Given the description of an element on the screen output the (x, y) to click on. 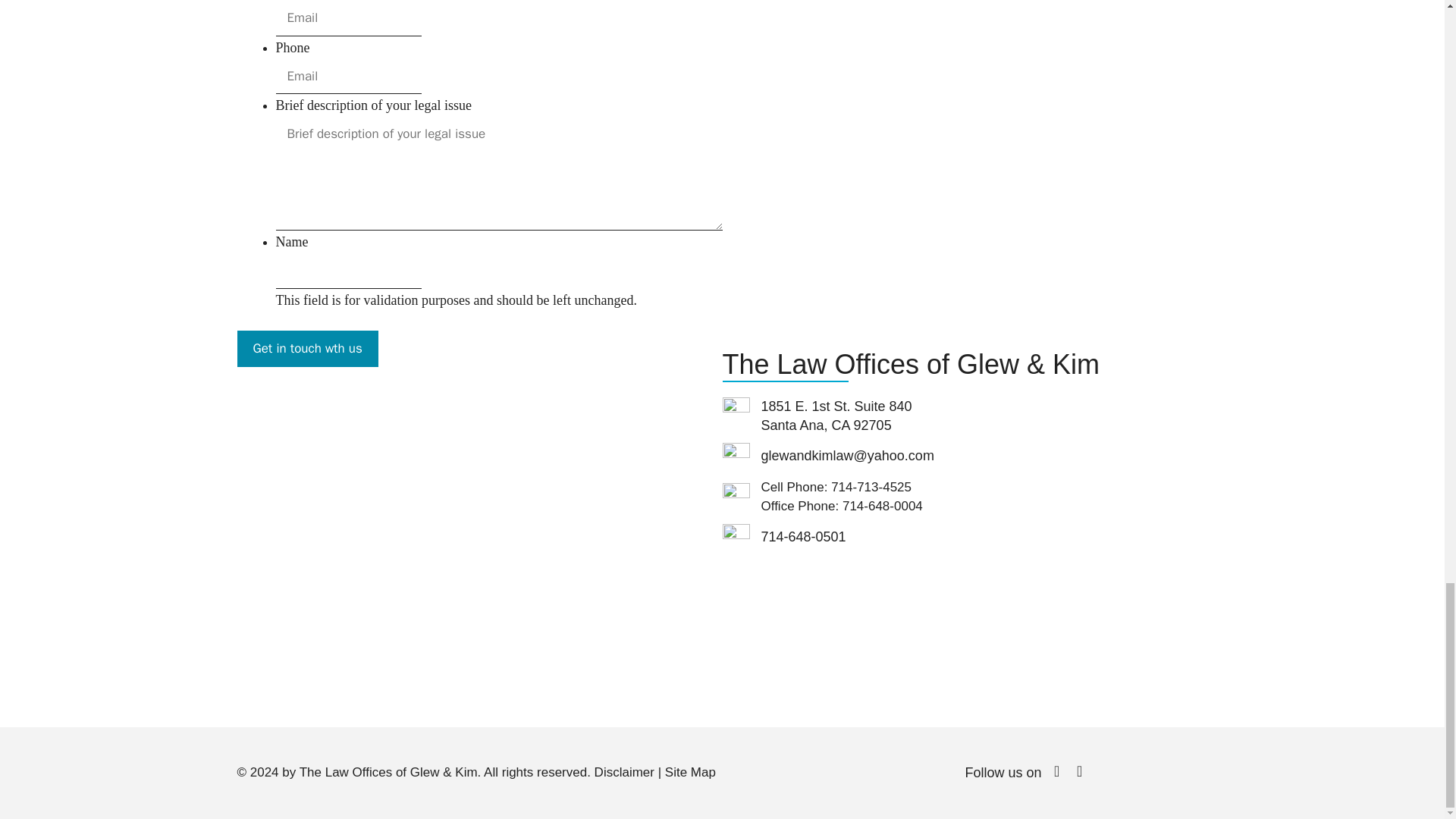
Get in touch wth us (306, 348)
1851 E. 1st St. Suite 840 Santa Ana, CA 92705 (478, 549)
714-648-0004 (883, 505)
Site Map (690, 771)
714-713-4525 (871, 486)
Disclaimer (623, 771)
Get in touch wth us (306, 348)
